Given the description of an element on the screen output the (x, y) to click on. 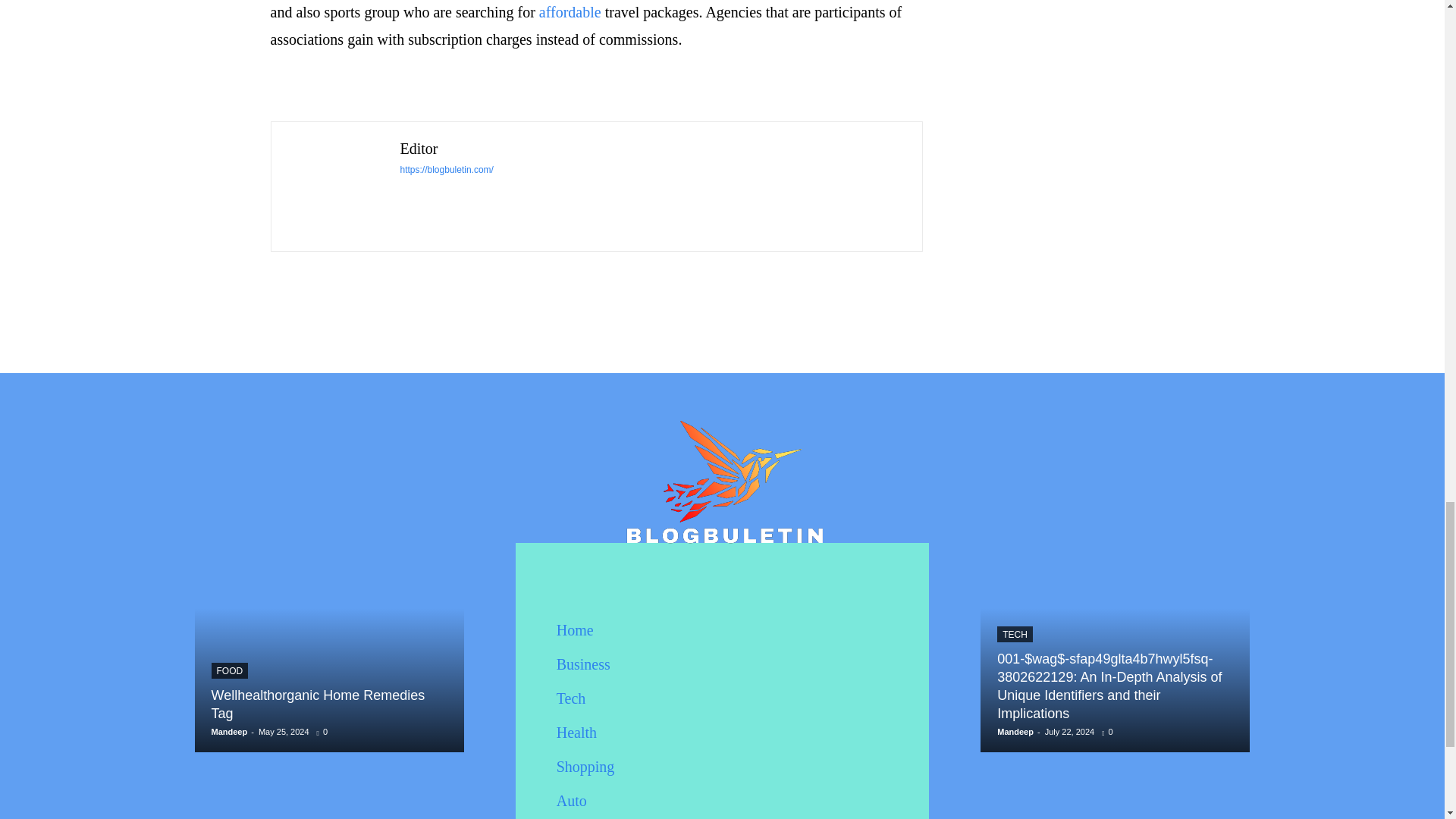
Mandeep (229, 731)
Wellhealthorganic Home Remedies Tag (328, 608)
FOOD (229, 670)
Editor (446, 148)
0 (325, 731)
Wellhealthorganic Home Remedies Tag (318, 704)
Editor (335, 186)
Wellhealthorganic Home Remedies Tag (318, 704)
affordable (569, 12)
